Given the description of an element on the screen output the (x, y) to click on. 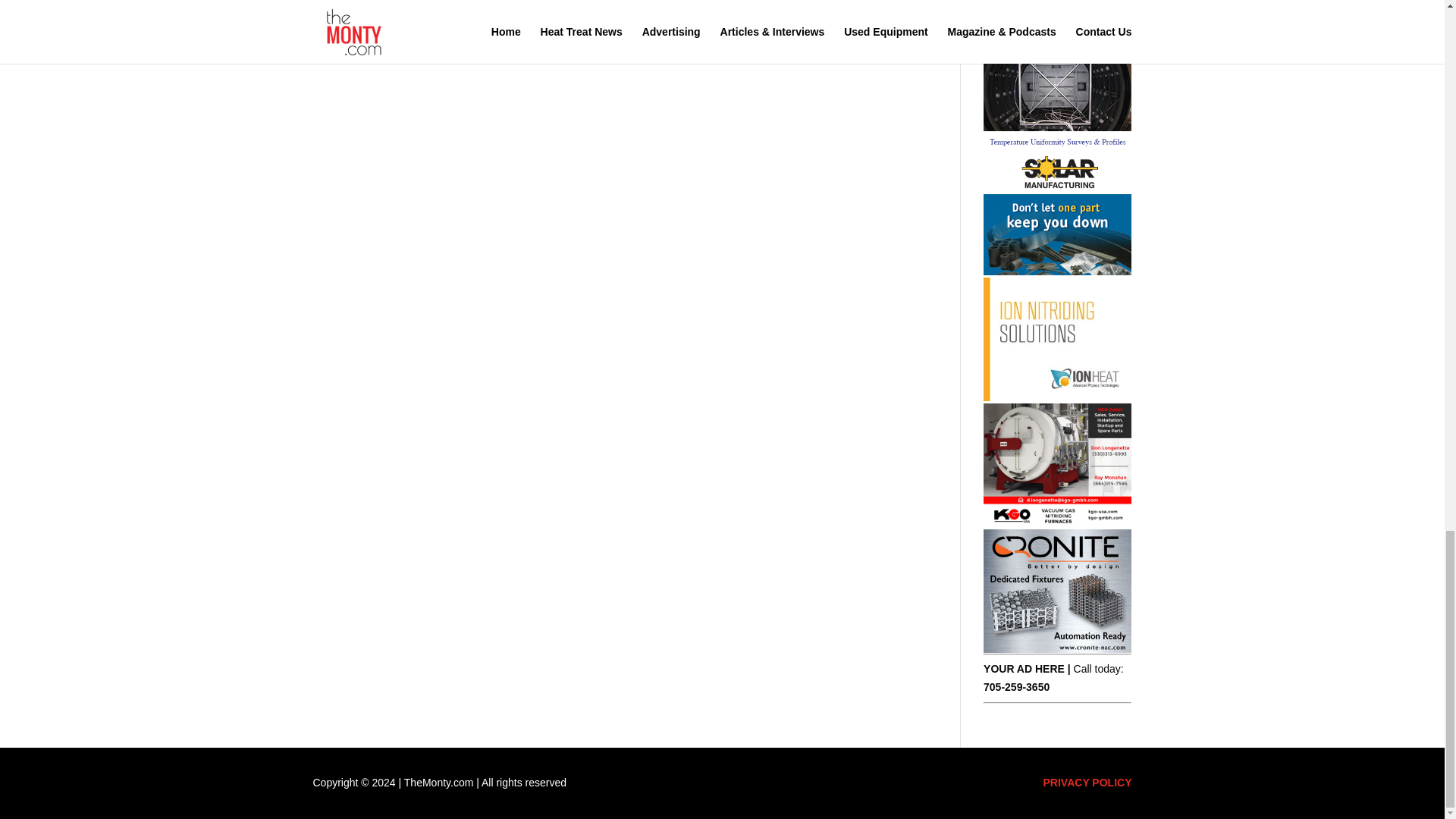
PRIVACY POLICY (1087, 782)
